Given the description of an element on the screen output the (x, y) to click on. 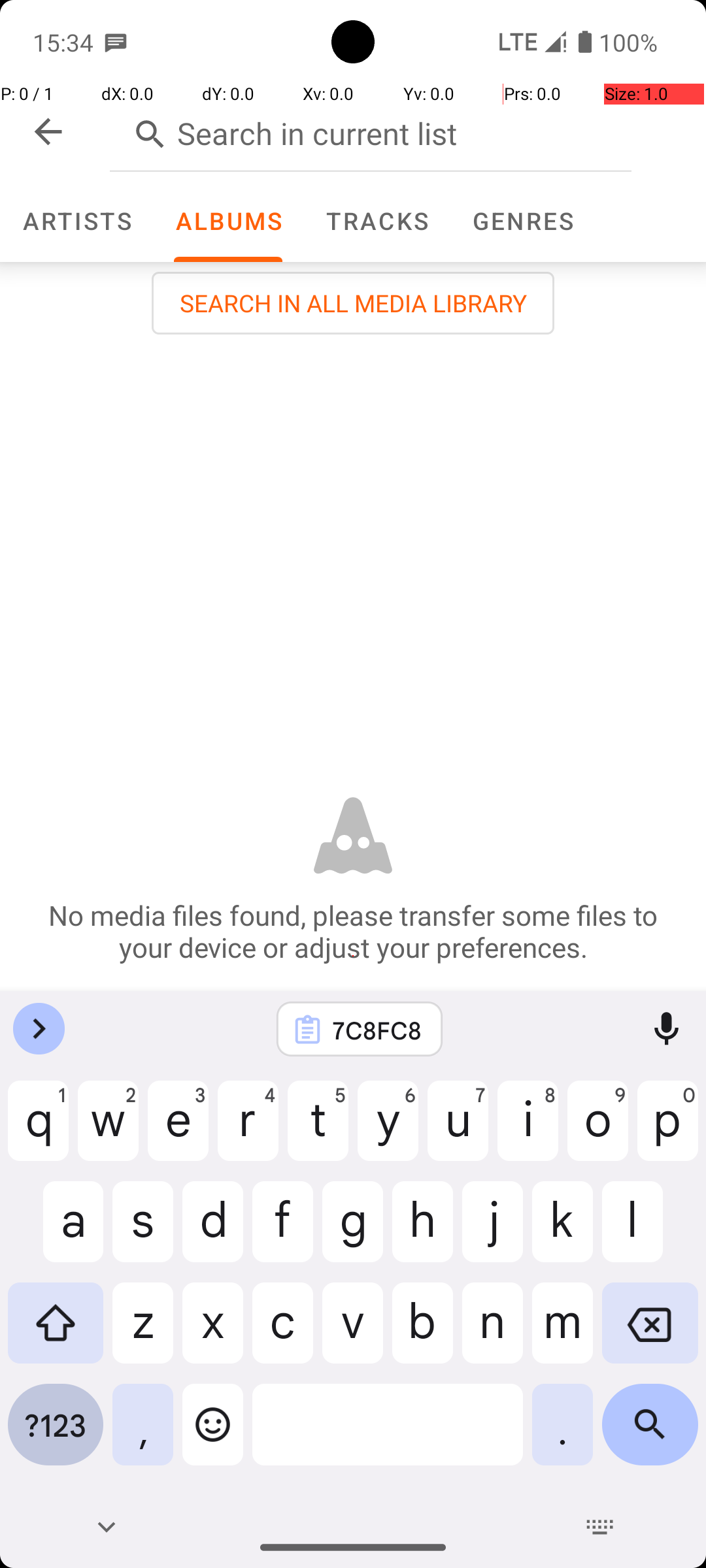
SEARCH IN ALL MEDIA LIBRARY Element type: android.widget.Button (352, 302)
No media files found, please transfer some files to your device or adjust your preferences. Element type: android.widget.TextView (352, 930)
   Search in current list Element type: android.widget.AutoCompleteTextView (370, 130)
